Given the description of an element on the screen output the (x, y) to click on. 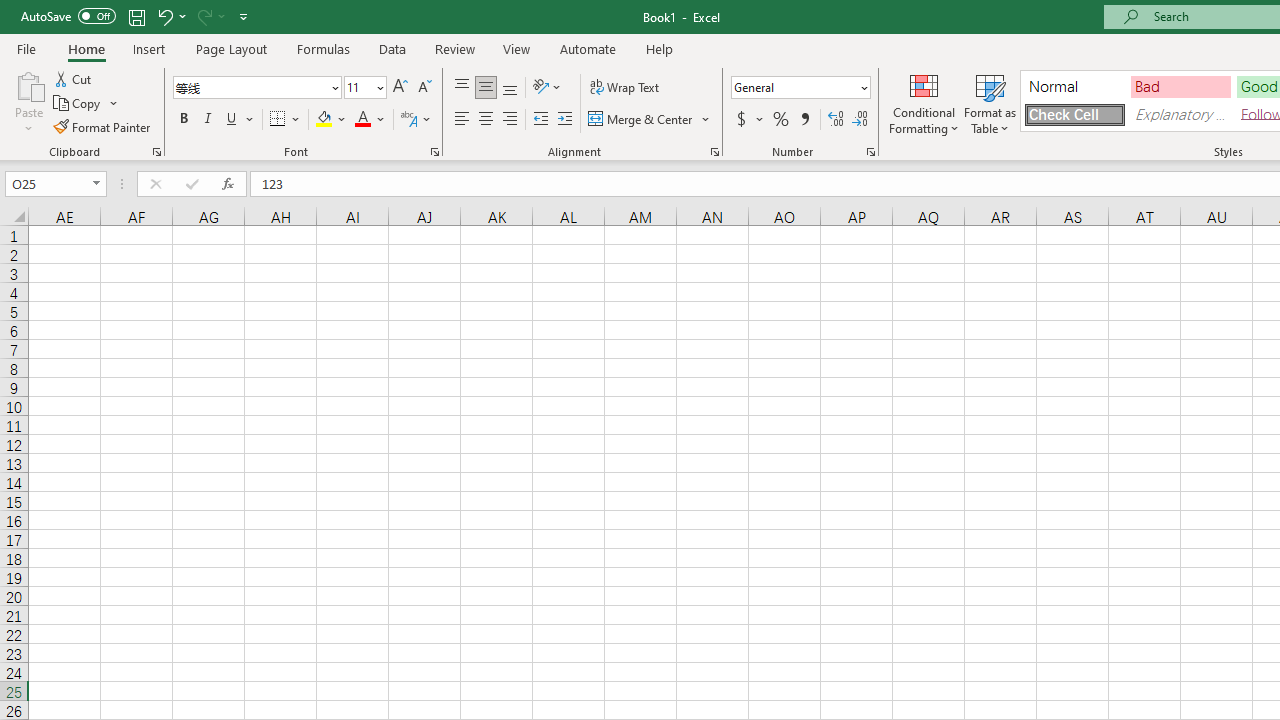
Number Format (794, 87)
Accounting Number Format (741, 119)
Italic (207, 119)
Format Painter (103, 126)
Top Align (461, 87)
Middle Align (485, 87)
Format Cell Alignment (714, 151)
Cut (73, 78)
Bad (1180, 86)
Font Color RGB(255, 0, 0) (362, 119)
Underline (232, 119)
